Given the description of an element on the screen output the (x, y) to click on. 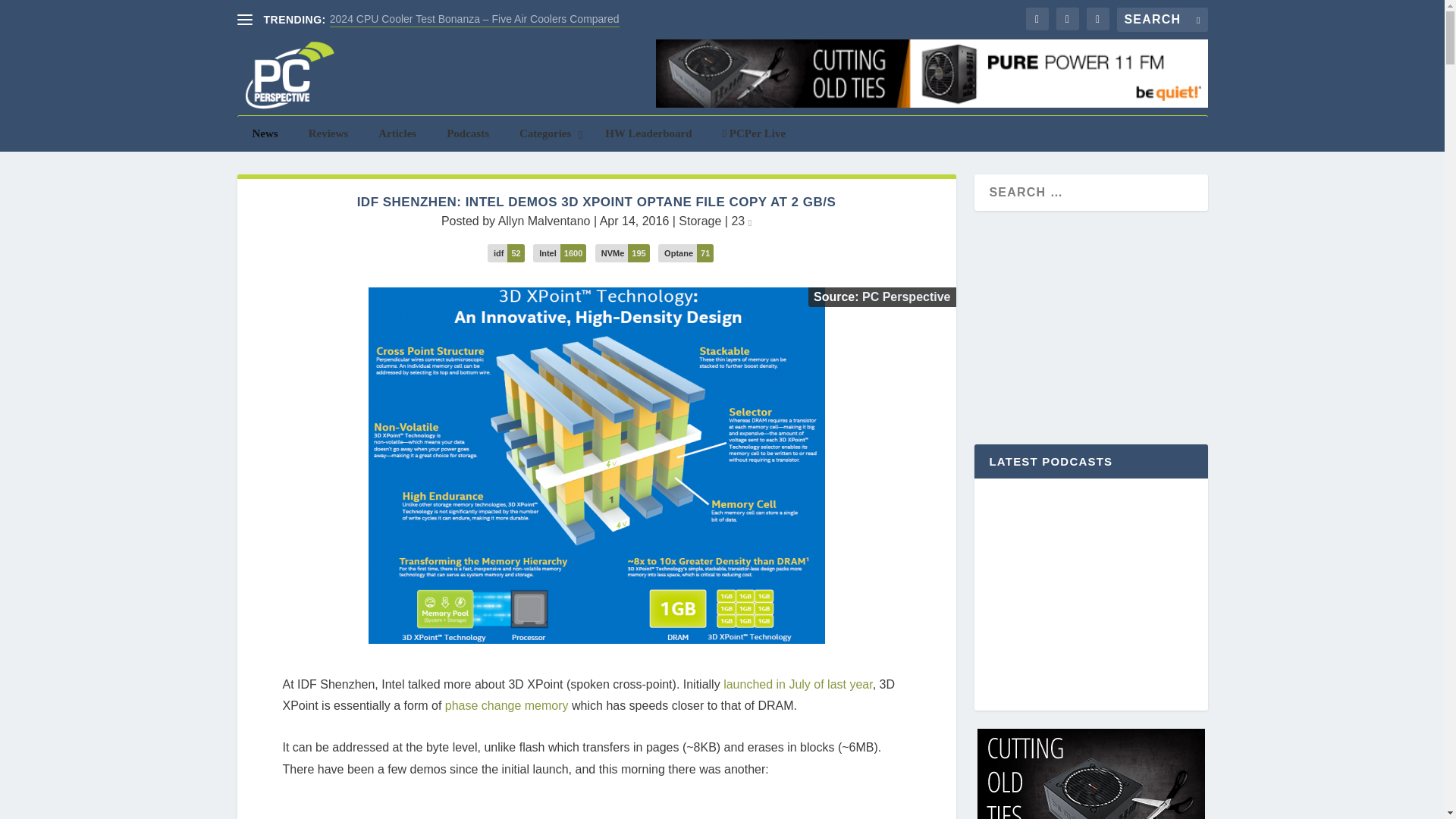
PCPer Live (754, 133)
Categories (546, 133)
News (263, 133)
Articles (396, 133)
Search for: (1161, 19)
Posts by Allyn Malventano (544, 220)
Podcasts (466, 133)
Reviews (329, 133)
HW Leaderboard (647, 133)
